Given the description of an element on the screen output the (x, y) to click on. 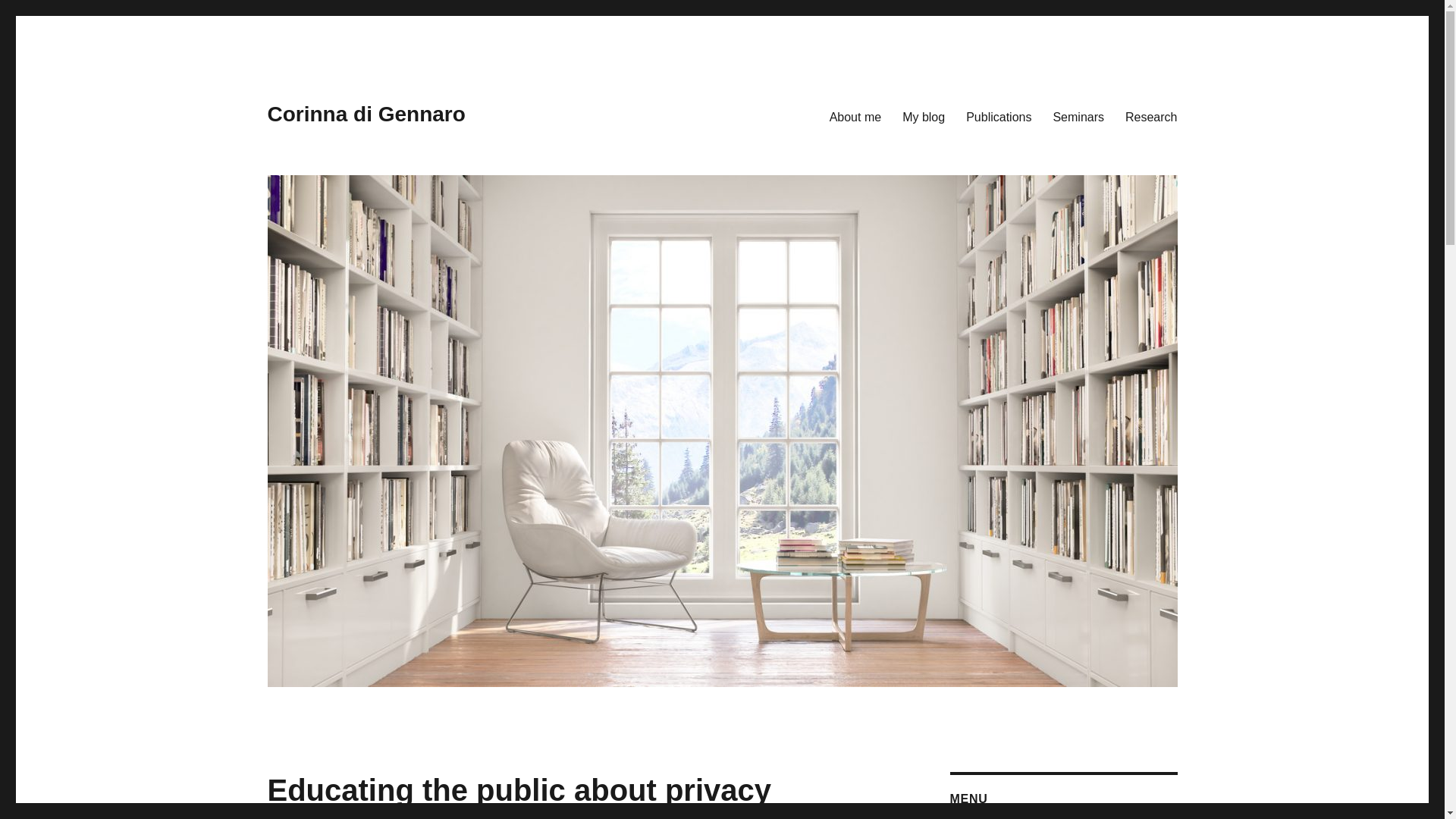
Publications (998, 116)
Seminars (1078, 116)
My blog (923, 116)
About me (854, 116)
Corinna di Gennaro (365, 114)
Research (1151, 116)
